Given the description of an element on the screen output the (x, y) to click on. 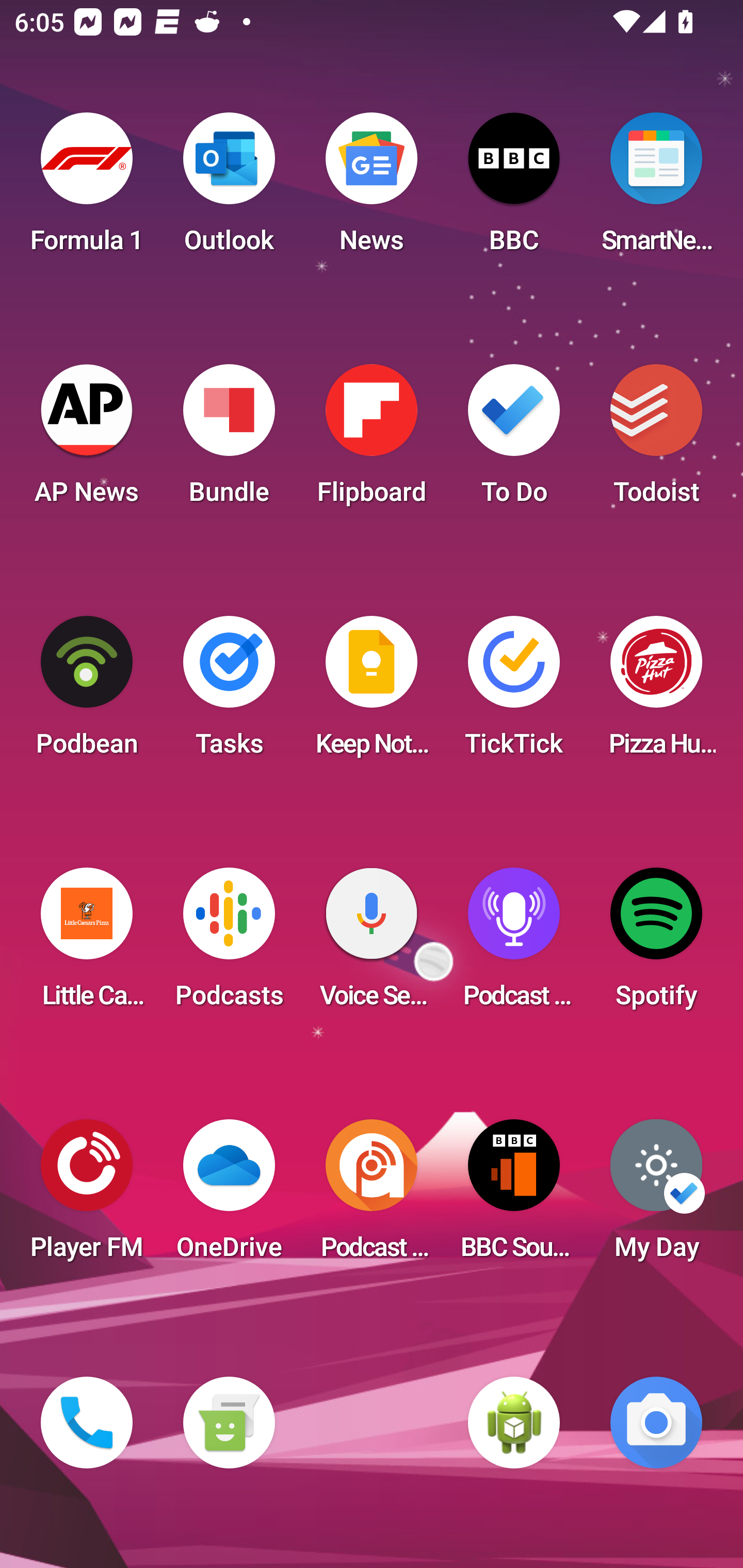
Formula 1 (86, 188)
Outlook (228, 188)
News (371, 188)
BBC (513, 188)
SmartNews (656, 188)
AP News (86, 440)
Bundle (228, 440)
Flipboard (371, 440)
To Do (513, 440)
Todoist (656, 440)
Podbean (86, 692)
Tasks (228, 692)
Keep Notes (371, 692)
TickTick (513, 692)
Pizza Hut HK & Macau (656, 692)
Little Caesars Pizza (86, 943)
Podcasts (228, 943)
Voice Search (371, 943)
Podcast Player (513, 943)
Spotify (656, 943)
Player FM (86, 1195)
OneDrive (228, 1195)
Podcast Addict (371, 1195)
BBC Sounds (513, 1195)
My Day (656, 1195)
Phone (86, 1422)
Messaging (228, 1422)
WebView Browser Tester (513, 1422)
Camera (656, 1422)
